Given the description of an element on the screen output the (x, y) to click on. 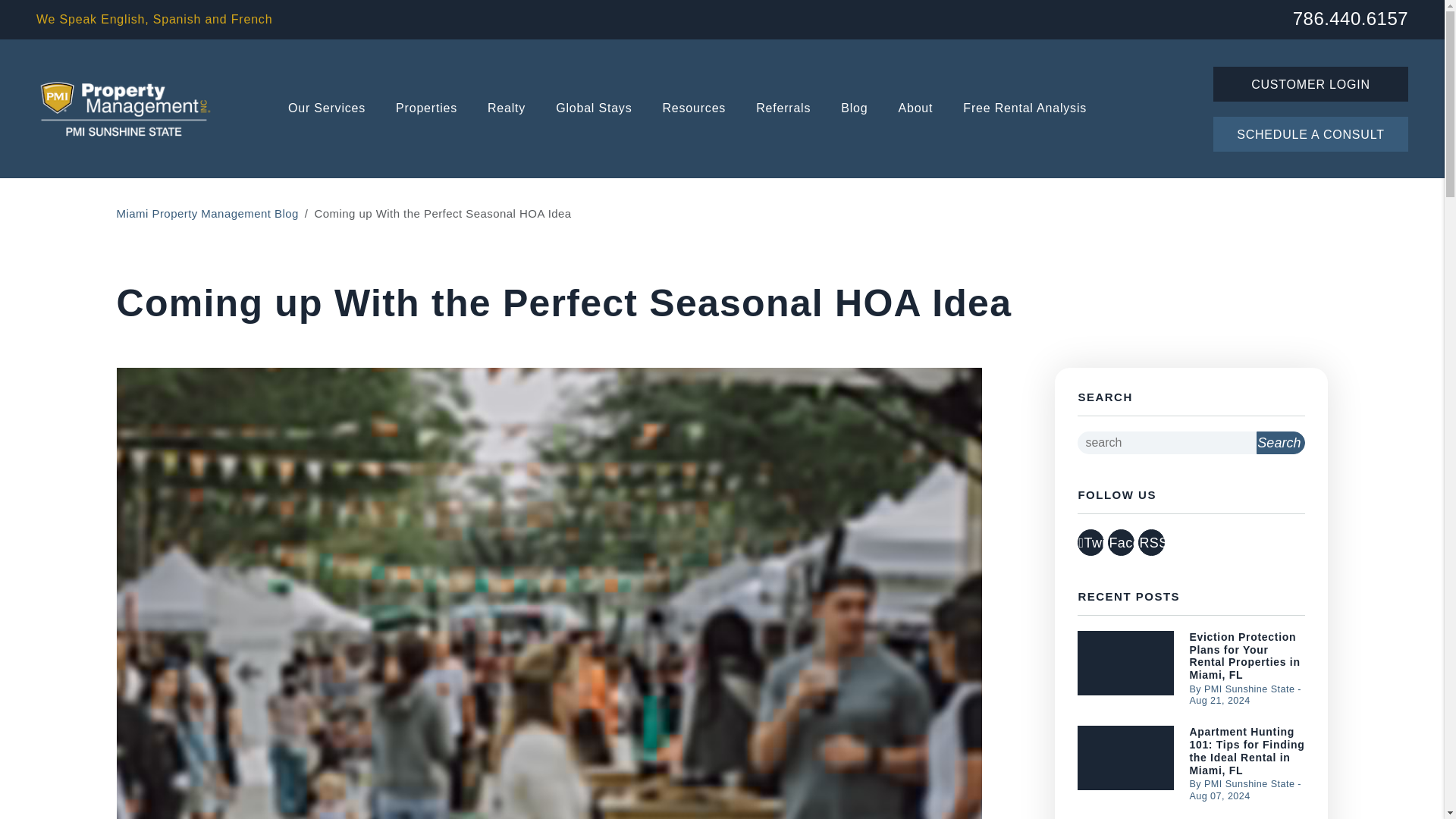
SCHEDULE A CONSULT (1309, 134)
786.440.6157 (1349, 17)
CUSTOMER LOGIN (1309, 83)
Our Services (326, 108)
